Given the description of an element on the screen output the (x, y) to click on. 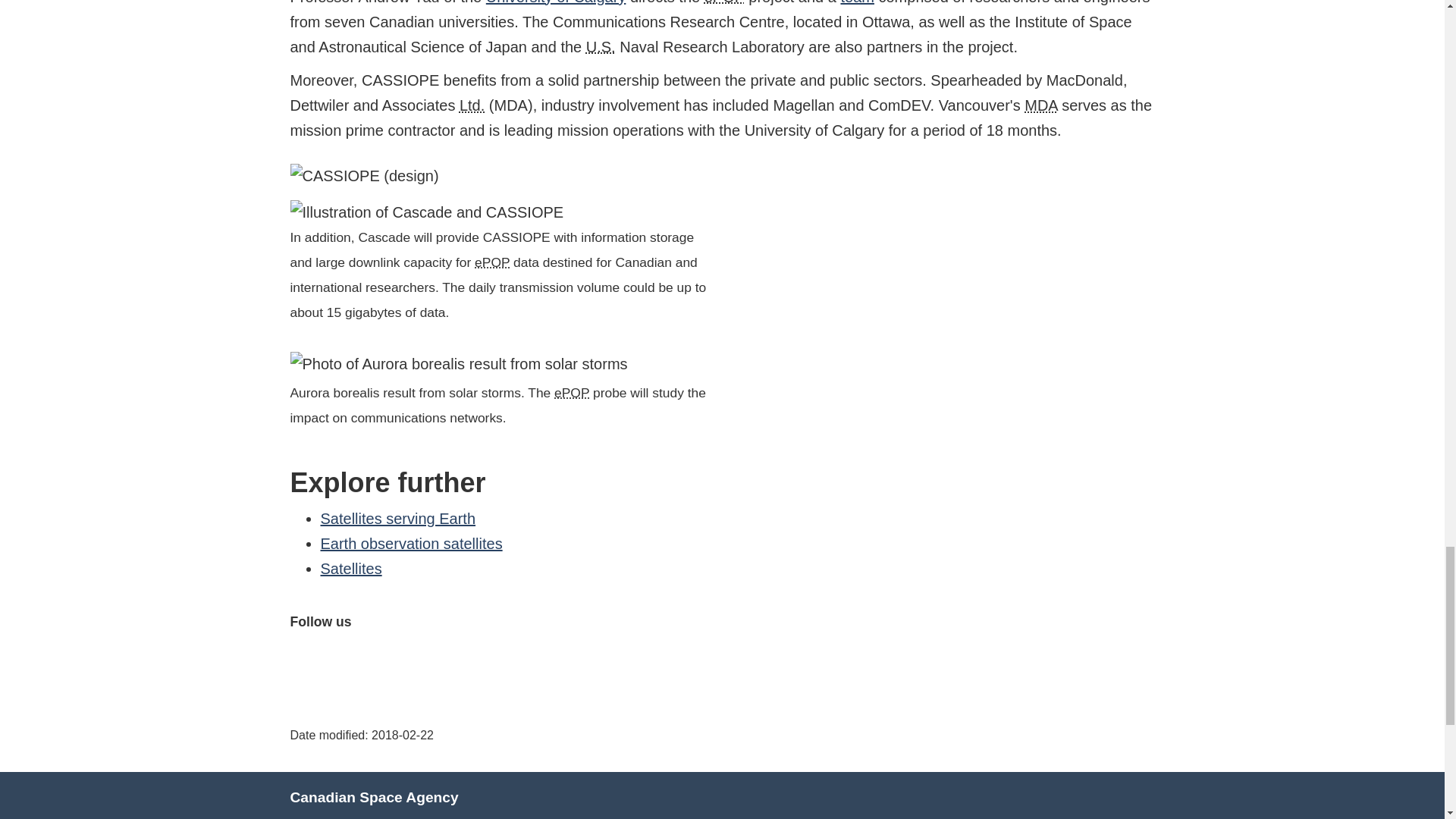
University of Calgary (556, 2)
Youtube: Canadianspaceagency (375, 659)
Instagram: canadianspaceagency (410, 659)
Limited (472, 105)
Linkedin: Canadian Space Agency (446, 659)
enhanced Polar Outflow Probe (571, 392)
United States (600, 46)
team (856, 2)
Facebook: CanadianSpaceAgency (303, 659)
Satellites (350, 568)
